Given the description of an element on the screen output the (x, y) to click on. 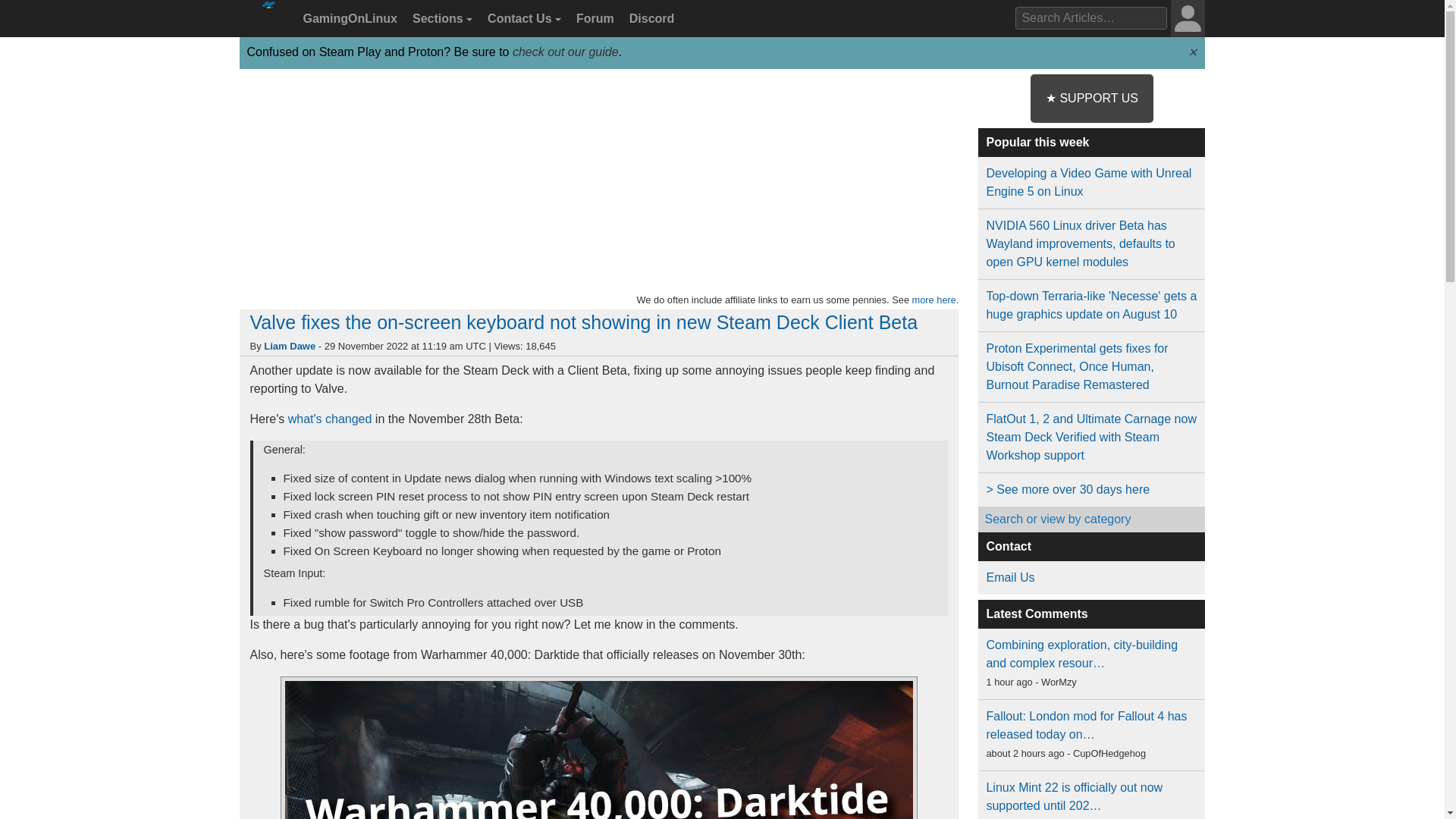
GamingOnLinux (348, 19)
Contact Us (522, 19)
Hide Announcement (1192, 51)
Discord (649, 19)
GamingOnLinux Home (267, 23)
check out our guide (565, 51)
Forum (593, 19)
Sections (440, 19)
